Given the description of an element on the screen output the (x, y) to click on. 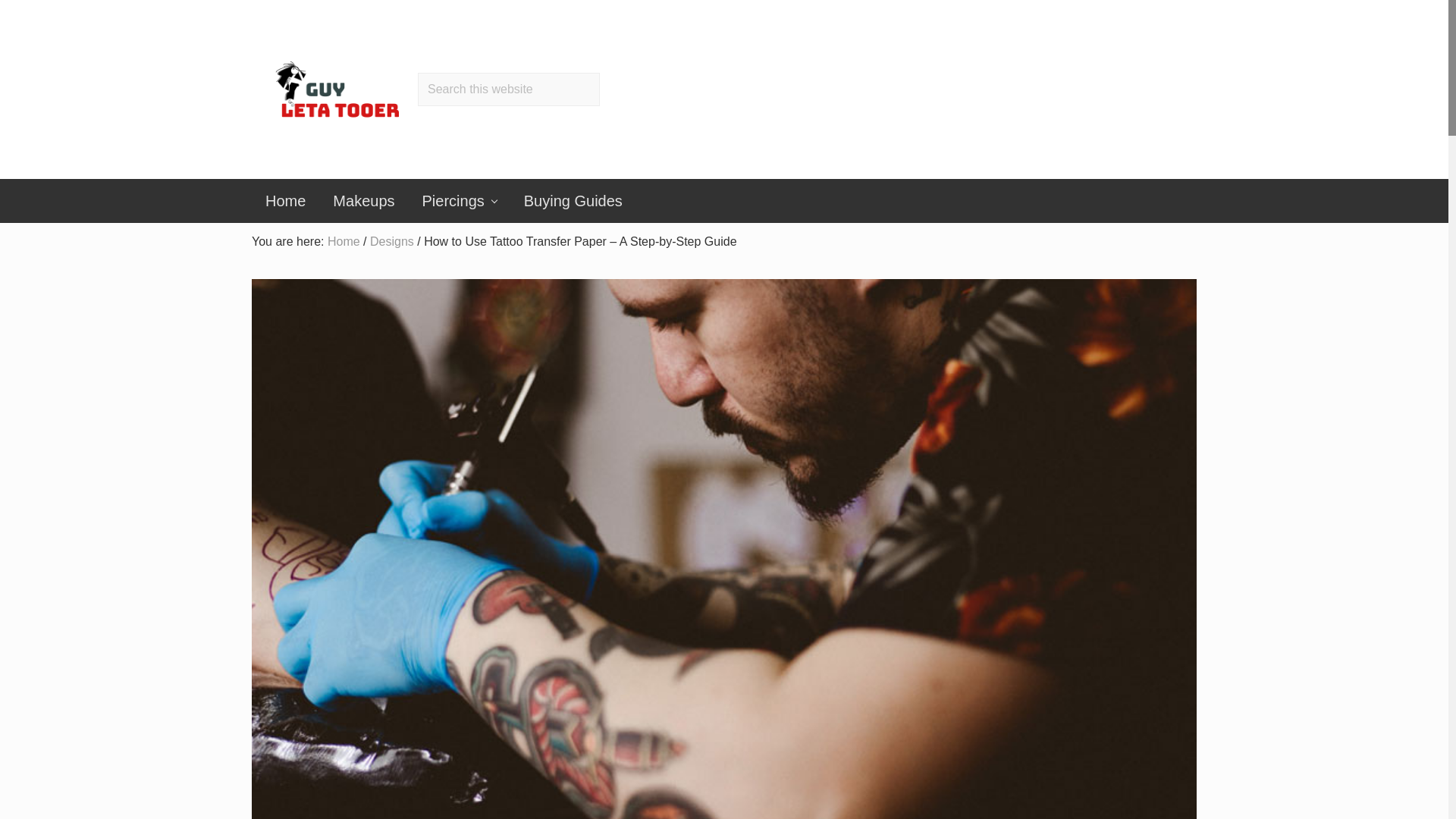
Piercings (460, 200)
Designs (391, 241)
Home (343, 241)
Makeups (362, 200)
Buying Guides (573, 200)
Home (284, 200)
